Given the description of an element on the screen output the (x, y) to click on. 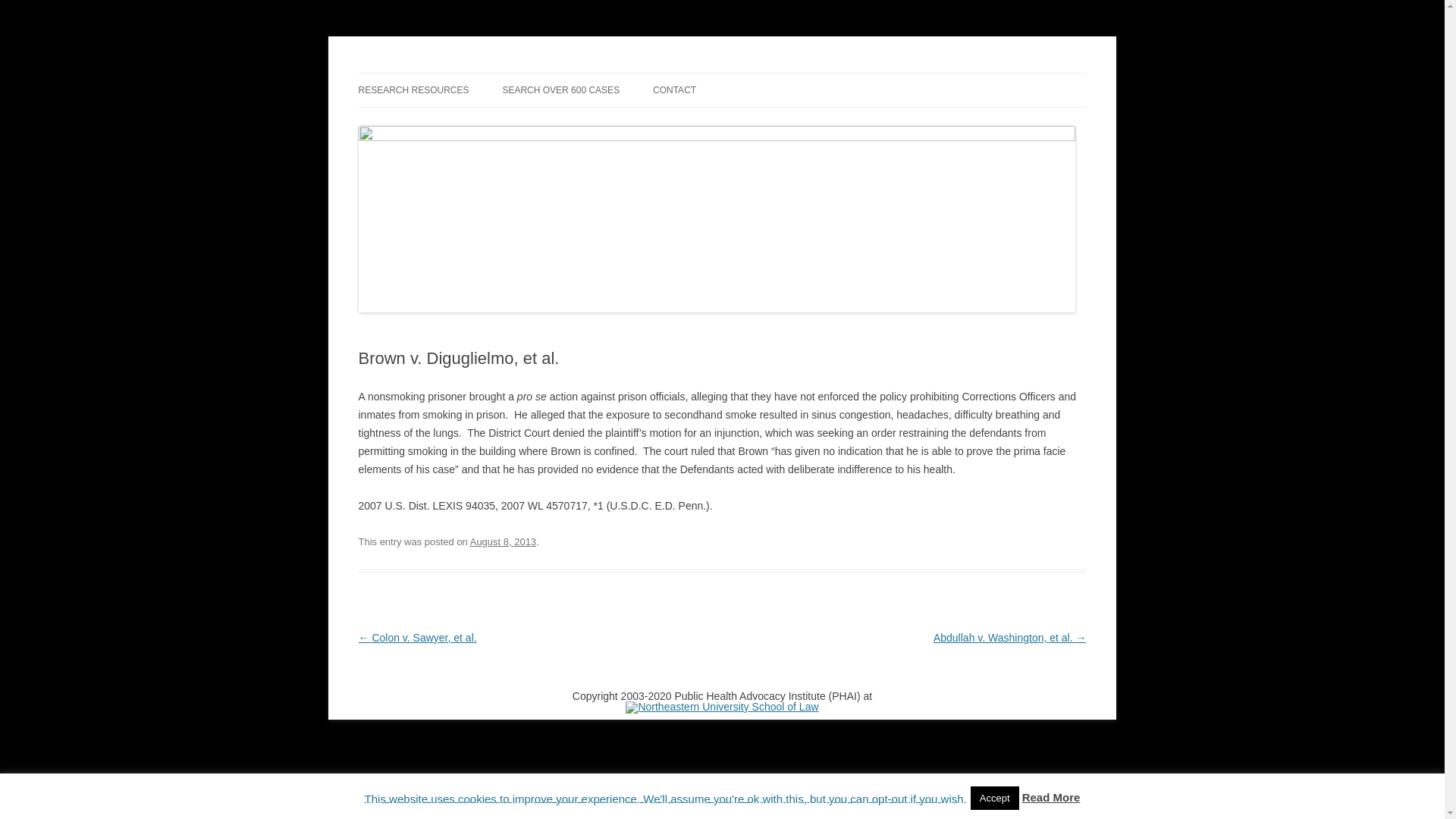
Smoke Litigation (437, 72)
SEARCH OVER 600 CASES (561, 90)
CaseSearch (561, 90)
August 8, 2013 (502, 541)
Smoke Litigation (437, 72)
8:41 pm (502, 541)
CONTACT (673, 90)
Skip to content (757, 77)
RESEARCH RESOURCES (413, 90)
Skip to content (757, 77)
